Given the description of an element on the screen output the (x, y) to click on. 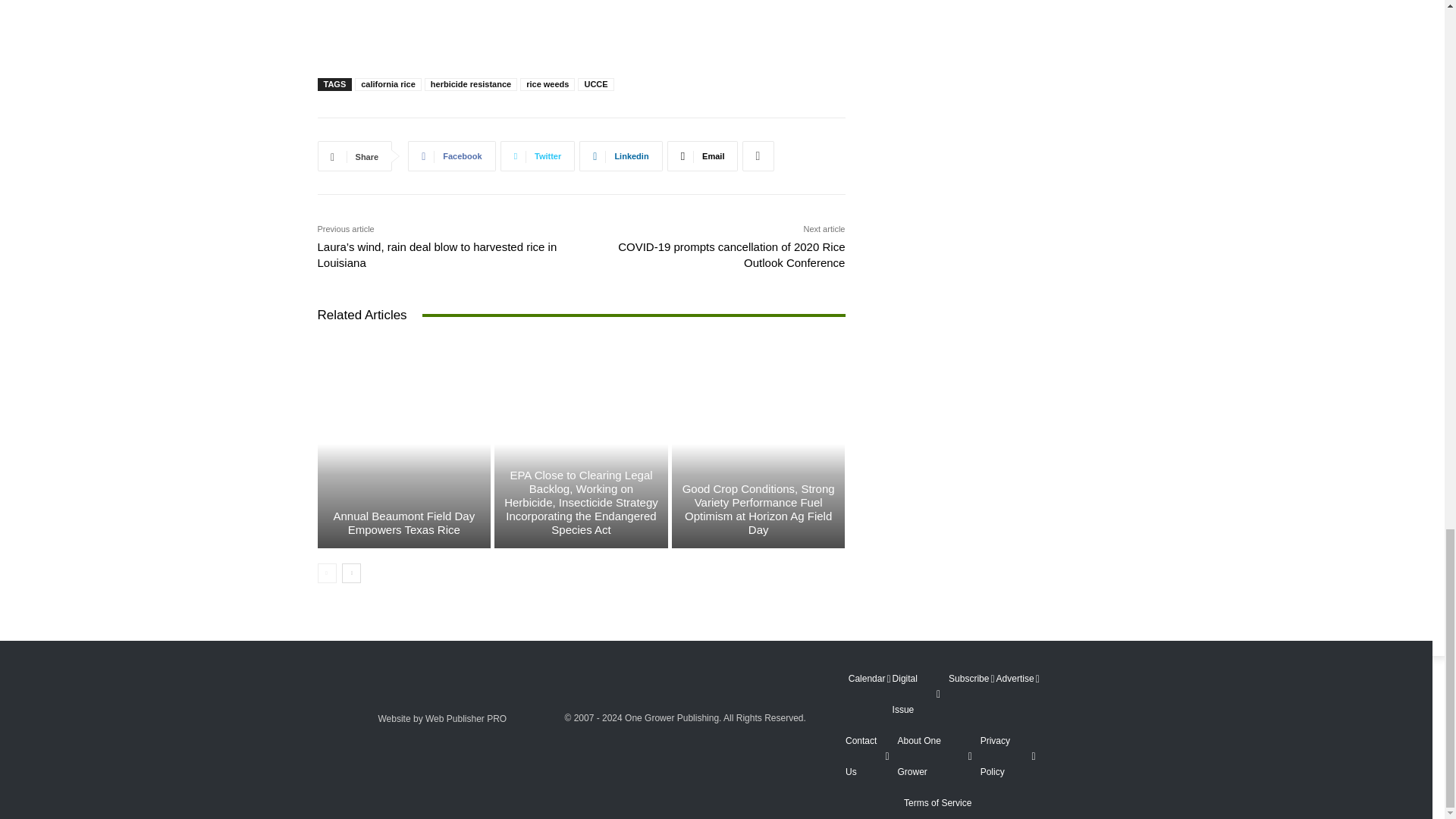
Facebook (451, 155)
Linkedin (620, 155)
How to Collect Weed Seeds for Herbicide Resistance (580, 8)
Twitter (537, 155)
